Given the description of an element on the screen output the (x, y) to click on. 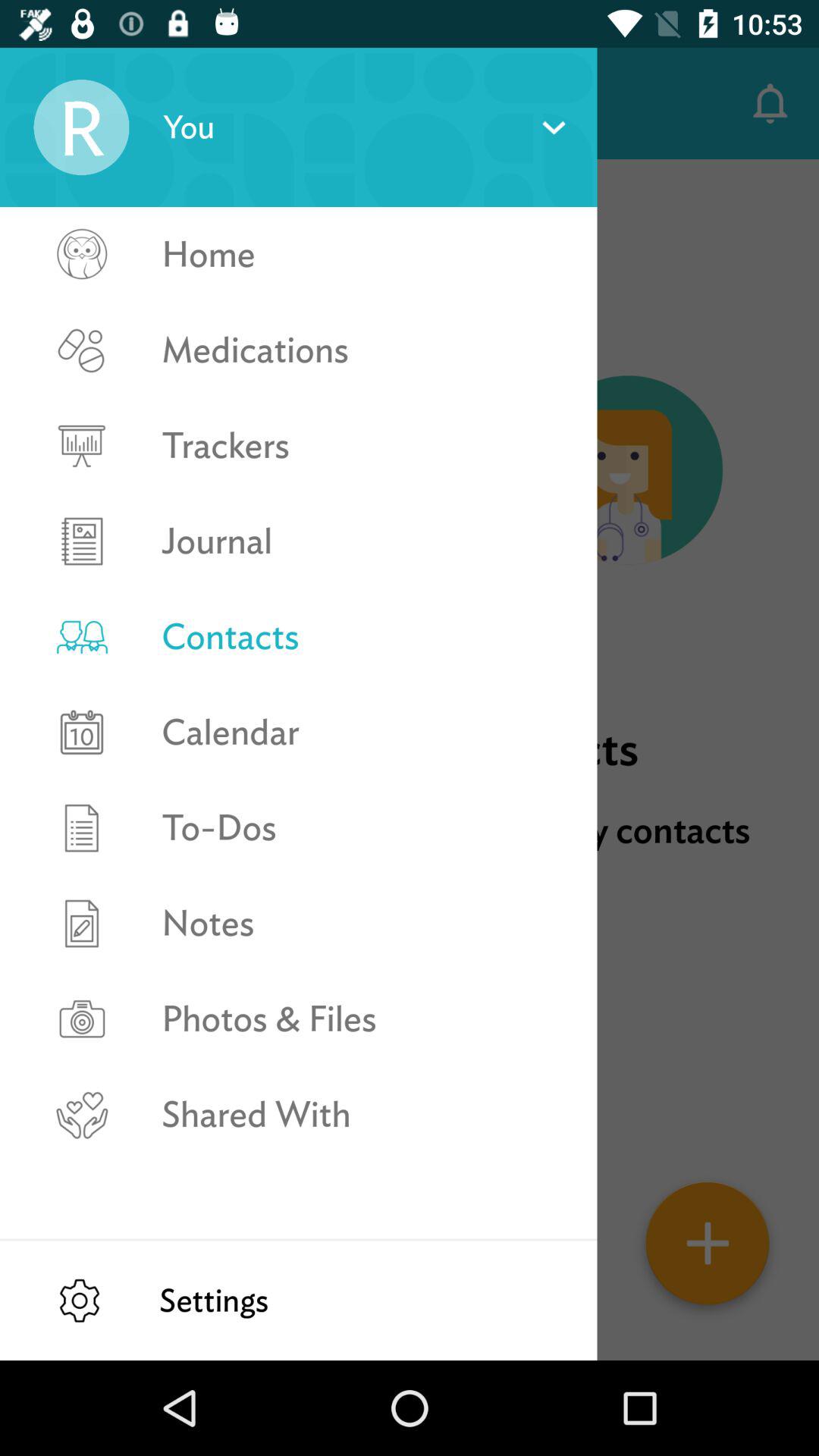
launch the notes (363, 923)
